Given the description of an element on the screen output the (x, y) to click on. 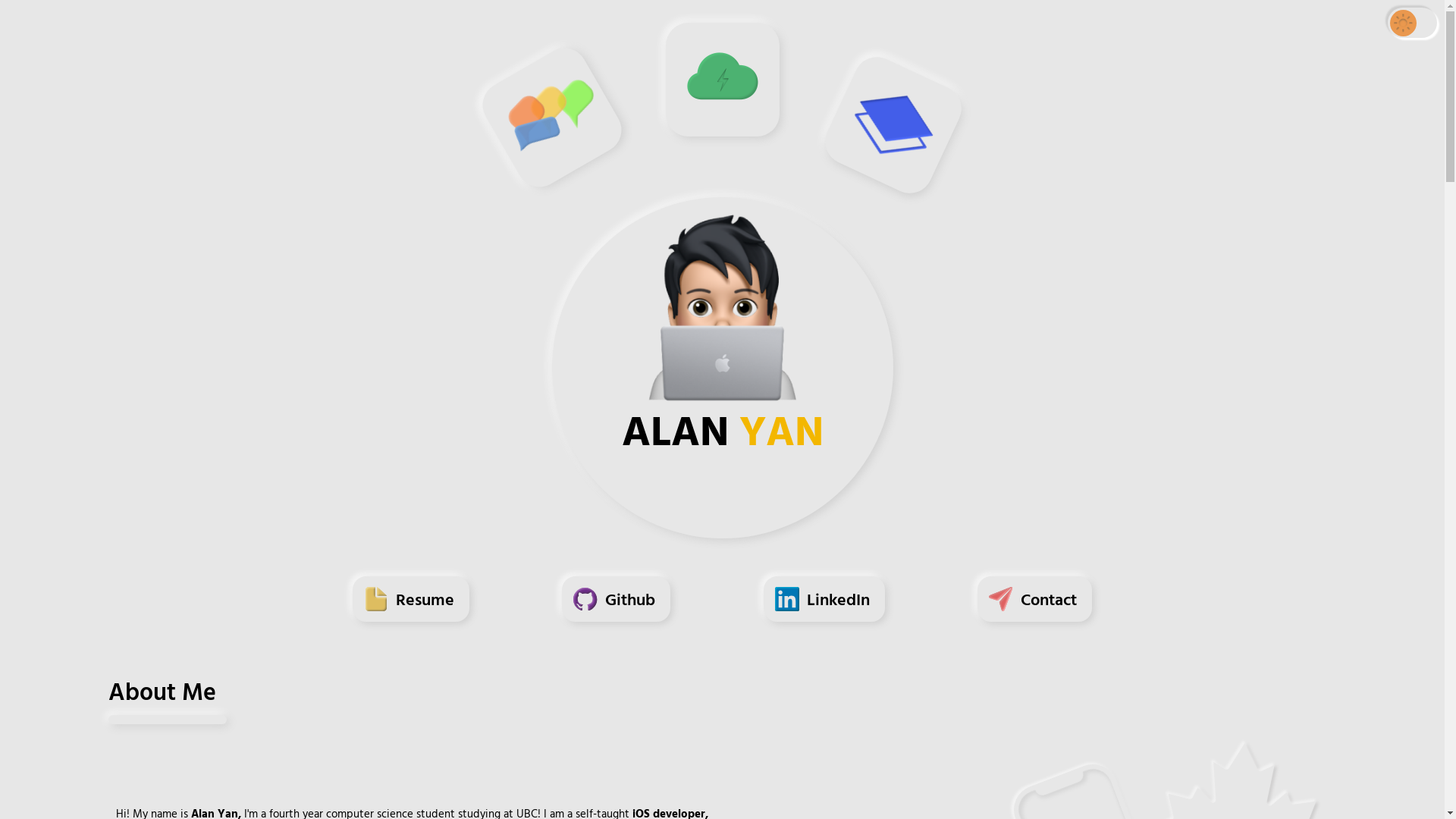
Github Element type: text (615, 606)
Resume Element type: text (410, 606)
LinkedIn Element type: text (824, 606)
Contact Element type: text (1034, 606)
